Given the description of an element on the screen output the (x, y) to click on. 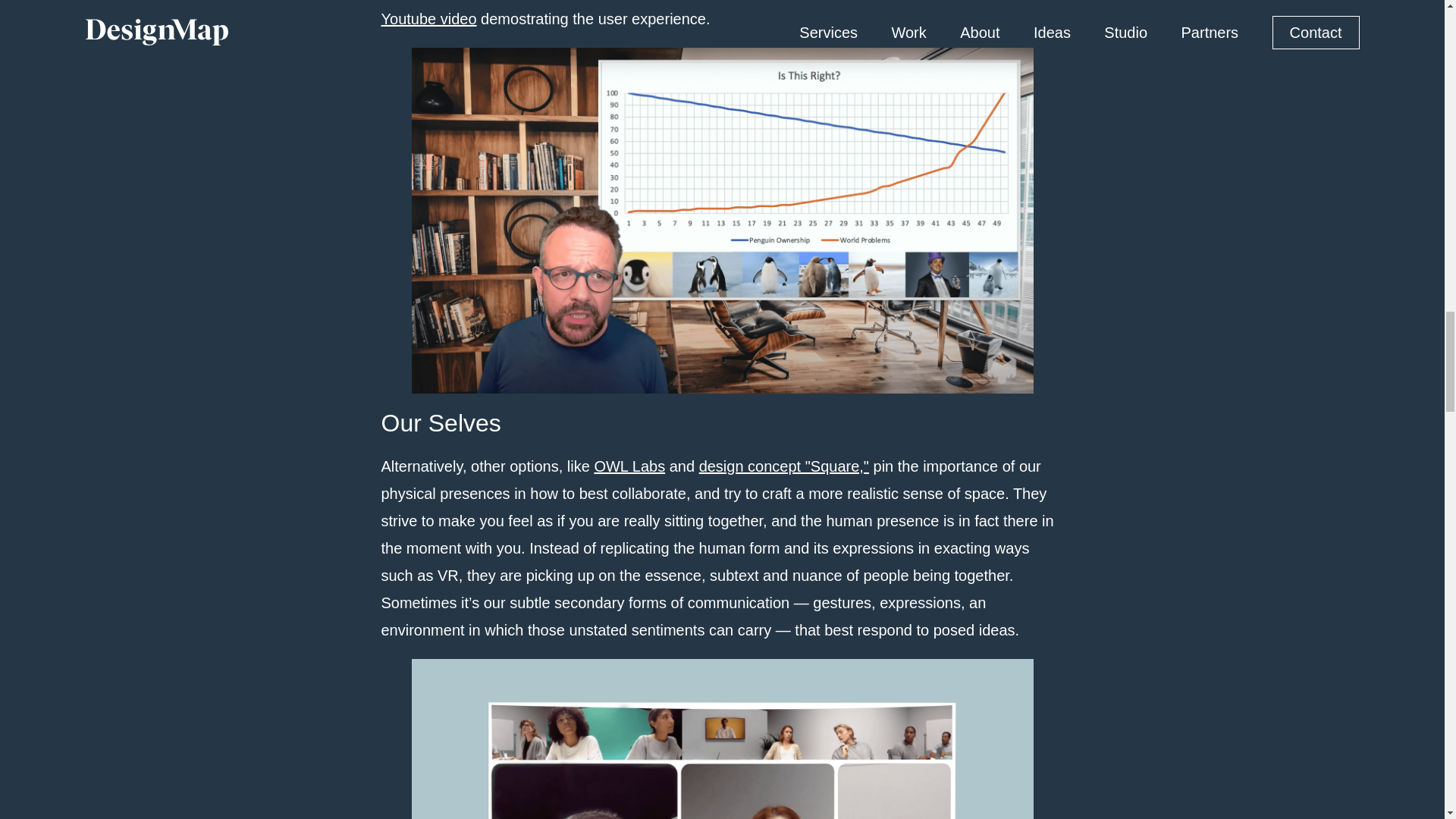
design concept "Square," (783, 466)
Youtube video (428, 18)
OWL Labs (629, 466)
